Given the description of an element on the screen output the (x, y) to click on. 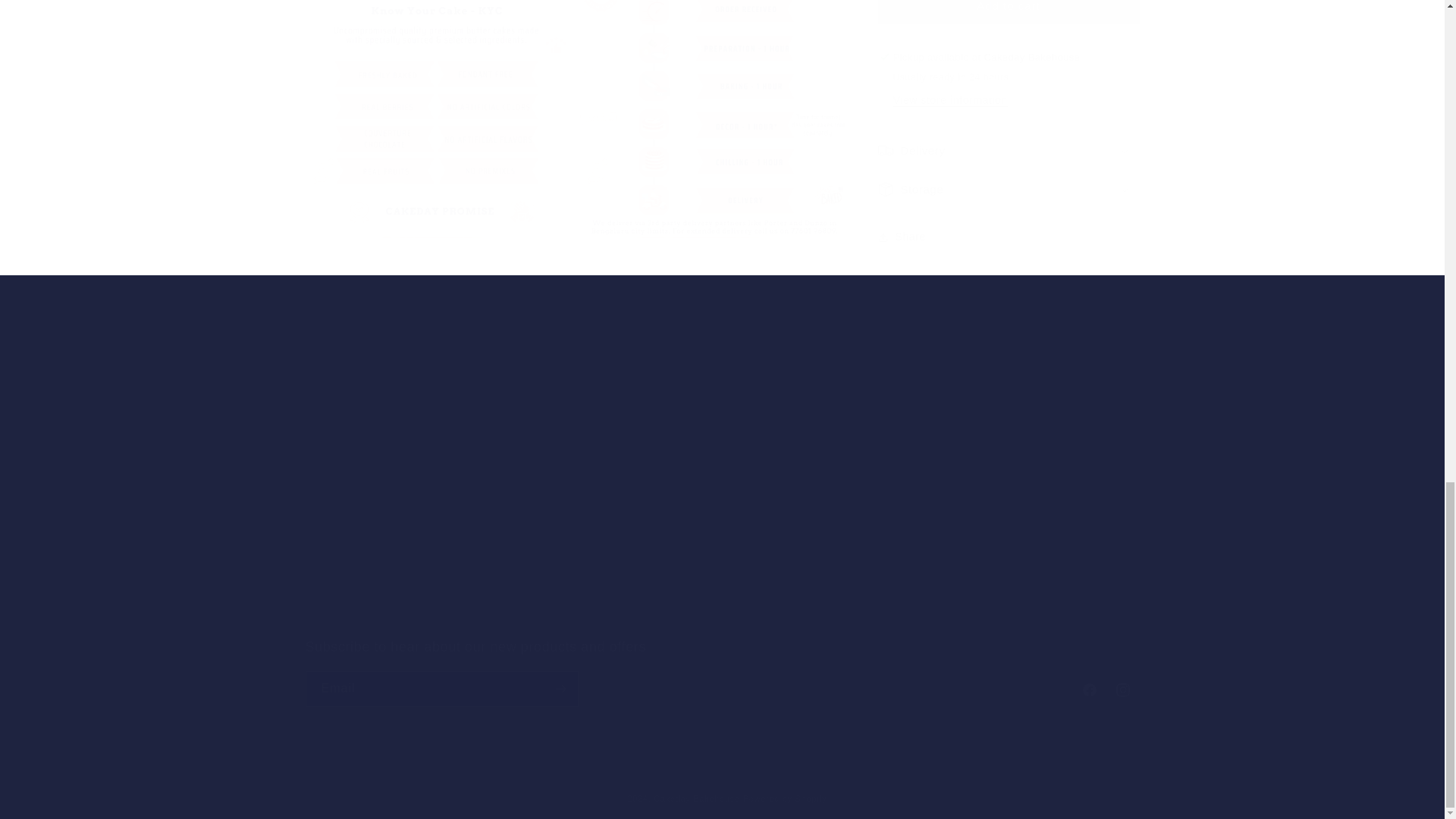
Open media 7 in modal (713, 112)
Open media 6 in modal (438, 112)
